Given the description of an element on the screen output the (x, y) to click on. 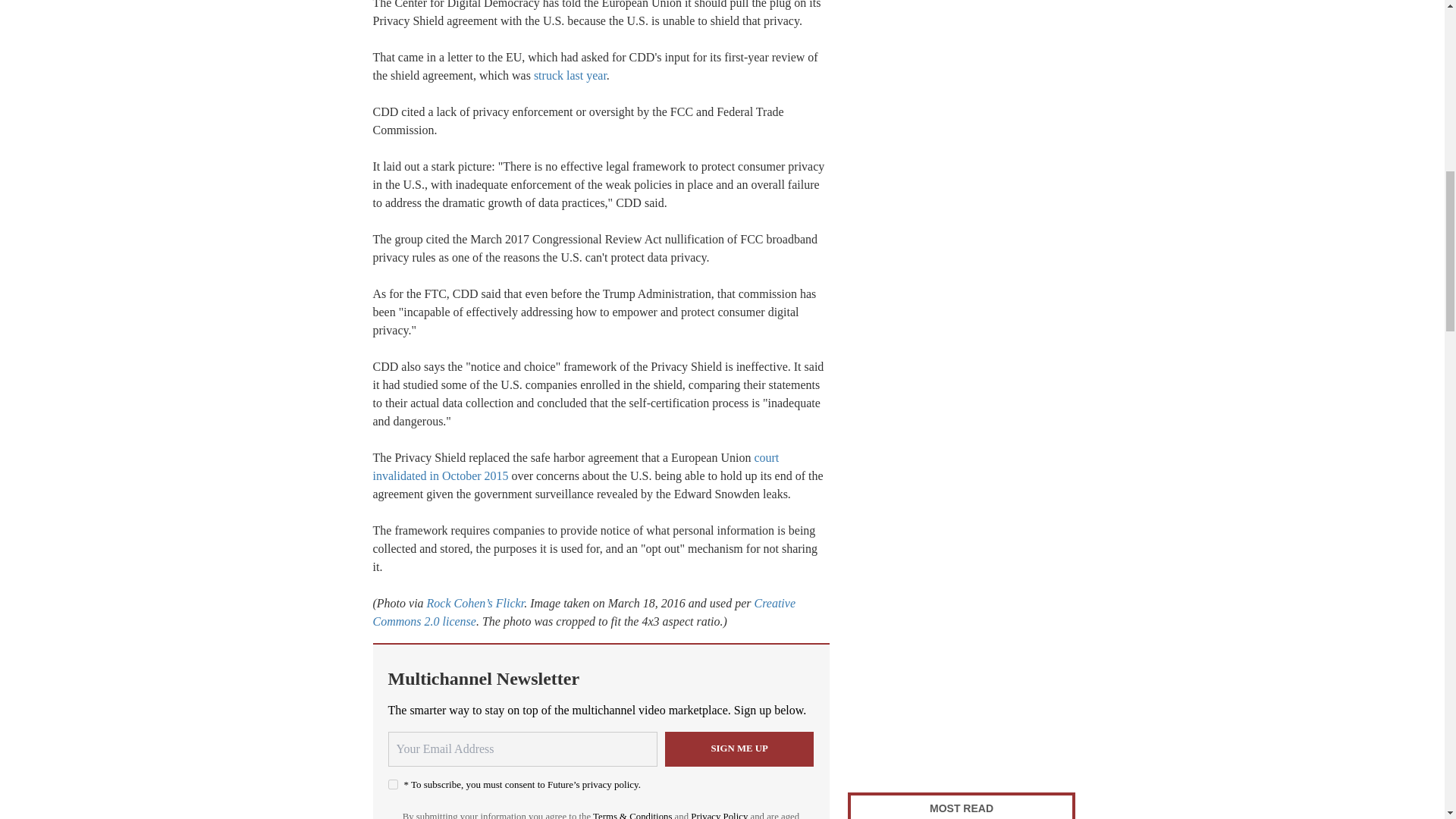
struck last year (570, 74)
Sign me up (739, 749)
Creative Commons 2.0 license (584, 612)
court invalidated in October 2015 (575, 466)
on (392, 784)
Sign me up (739, 749)
